Given the description of an element on the screen output the (x, y) to click on. 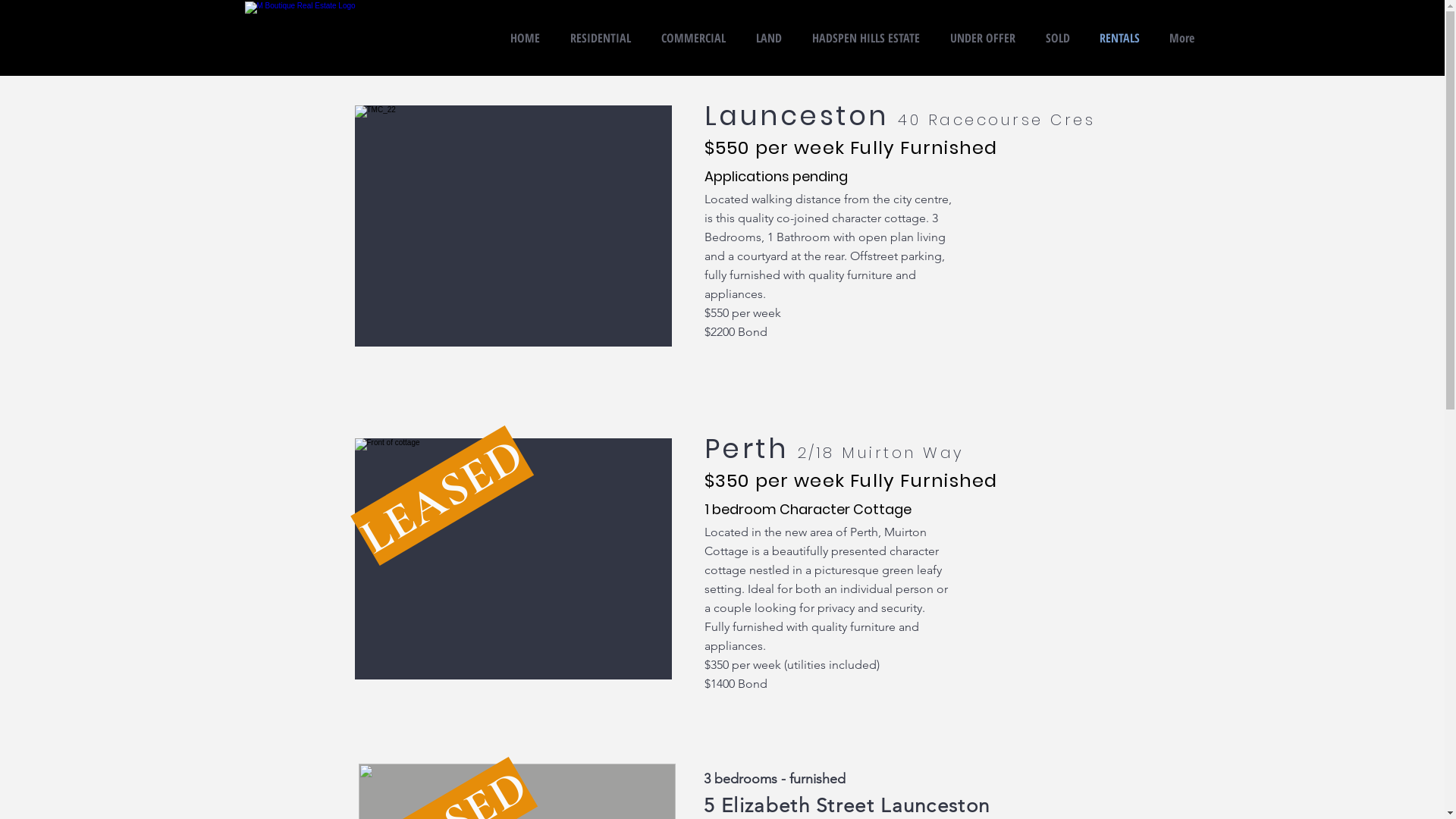
HADSPEN HILLS ESTATE Element type: text (865, 37)
RESIDENTIAL Element type: text (600, 37)
HOME Element type: text (524, 37)
COMMERCIAL Element type: text (693, 37)
LAND Element type: text (768, 37)
5 Elizabeth Street Launceston Element type: text (846, 805)
SOLD Element type: text (1056, 37)
RENTALS Element type: text (1119, 37)
UNDER OFFER Element type: text (981, 37)
